Given the description of an element on the screen output the (x, y) to click on. 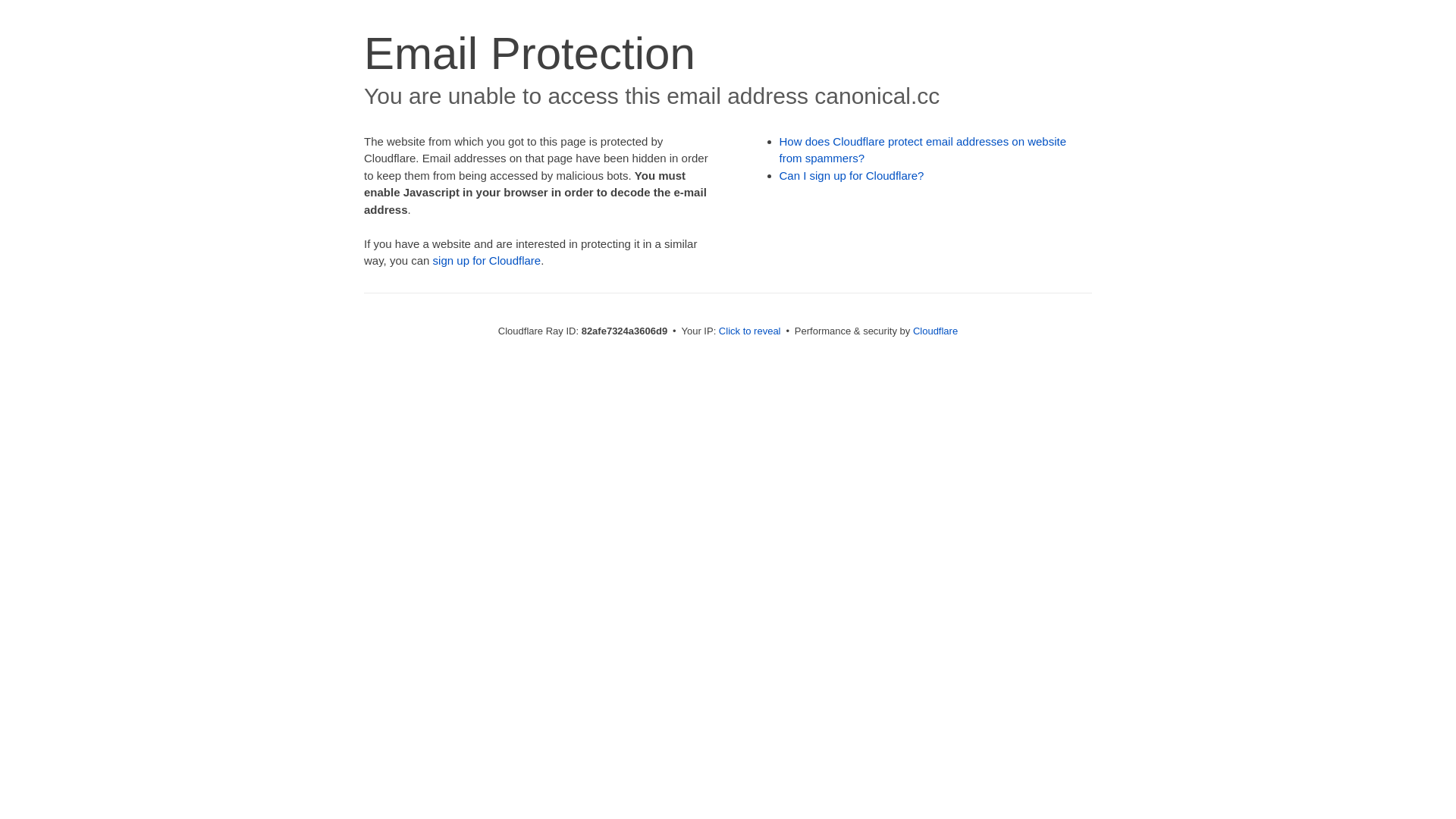
Can I sign up for Cloudflare? Element type: text (851, 175)
Cloudflare Element type: text (935, 330)
sign up for Cloudflare Element type: text (487, 260)
Click to reveal Element type: text (749, 330)
